Given the description of an element on the screen output the (x, y) to click on. 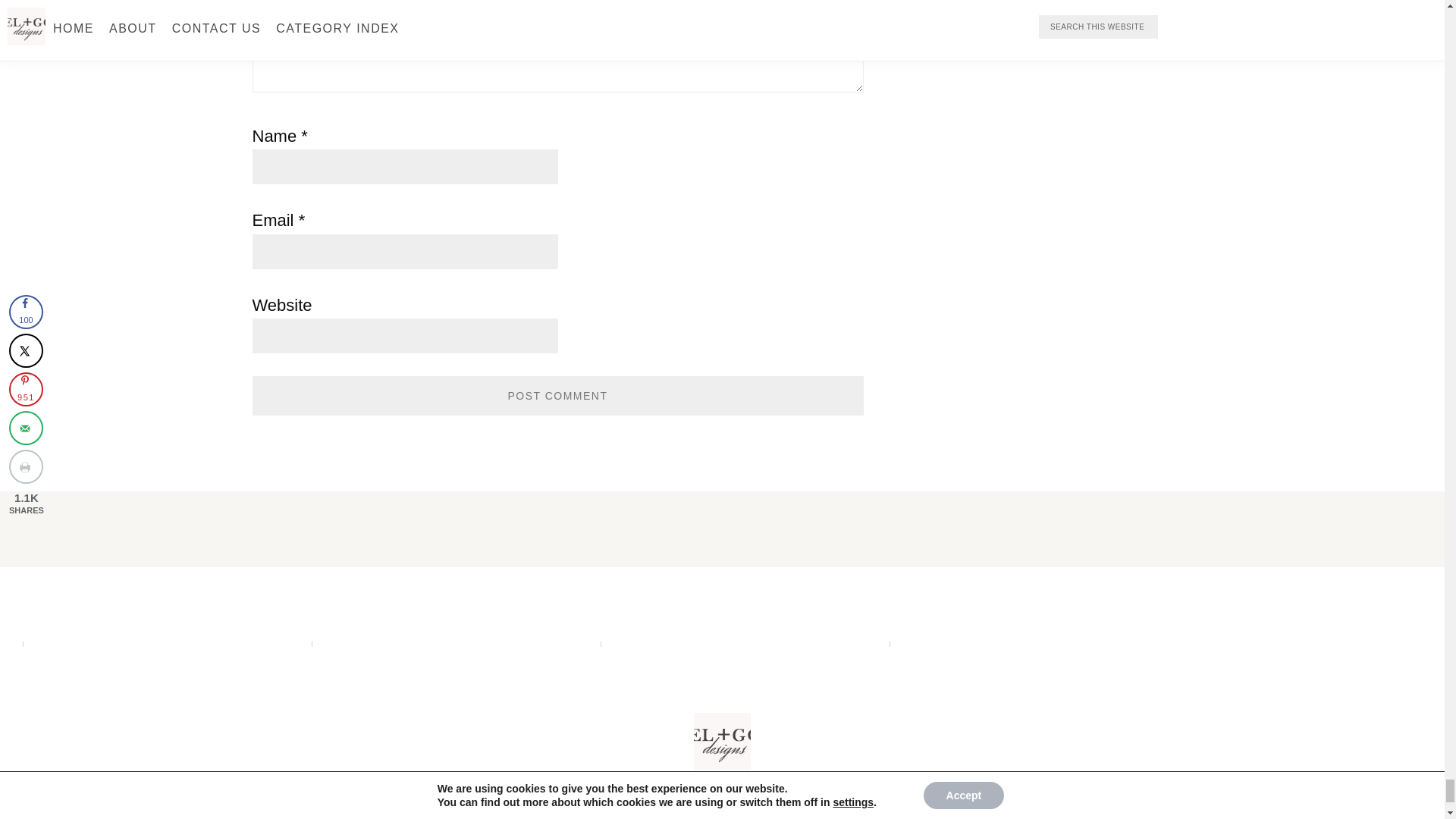
Post Comment (557, 395)
